Given the description of an element on the screen output the (x, y) to click on. 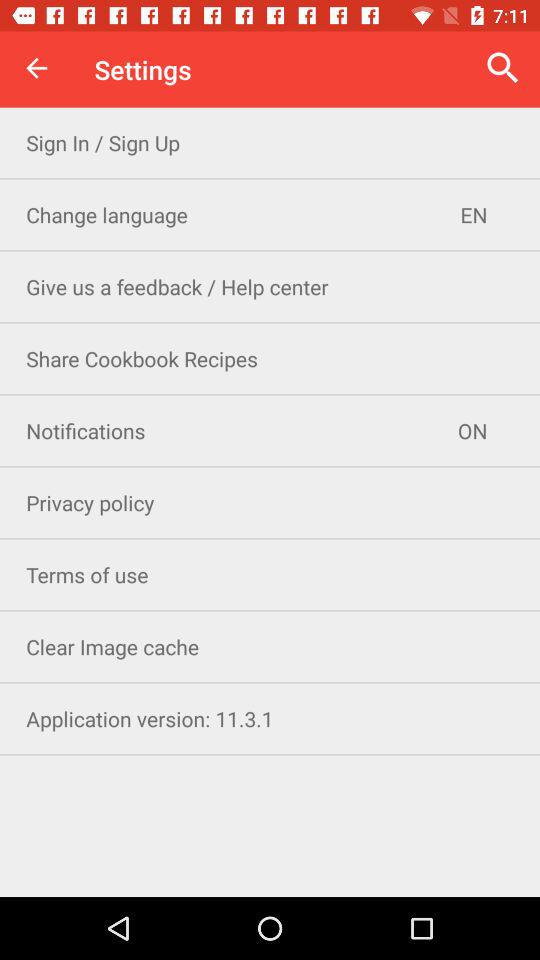
launch the terms of use (270, 574)
